Given the description of an element on the screen output the (x, y) to click on. 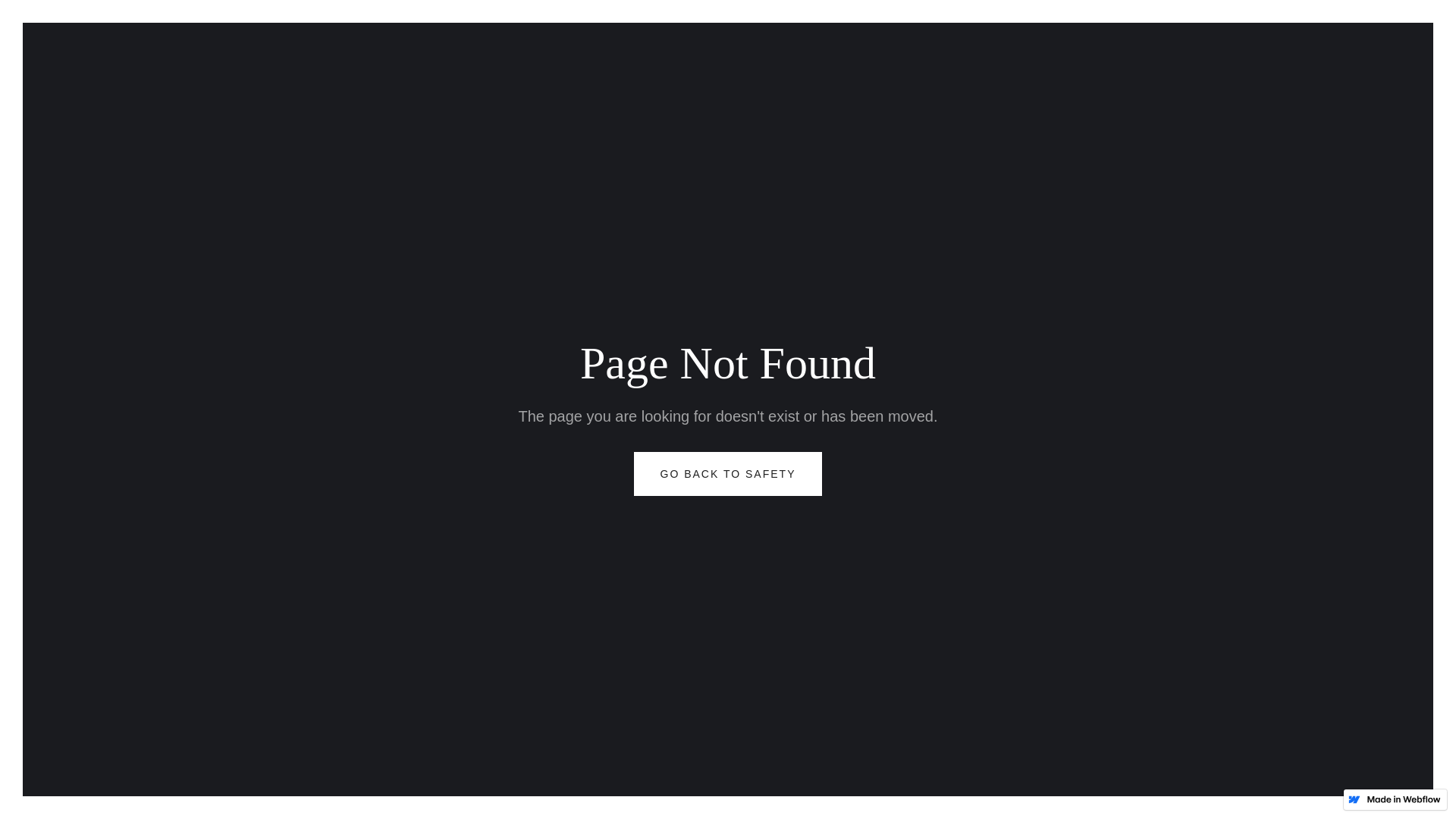
GO BACK TO SAFETY Element type: text (727, 473)
